Given the description of an element on the screen output the (x, y) to click on. 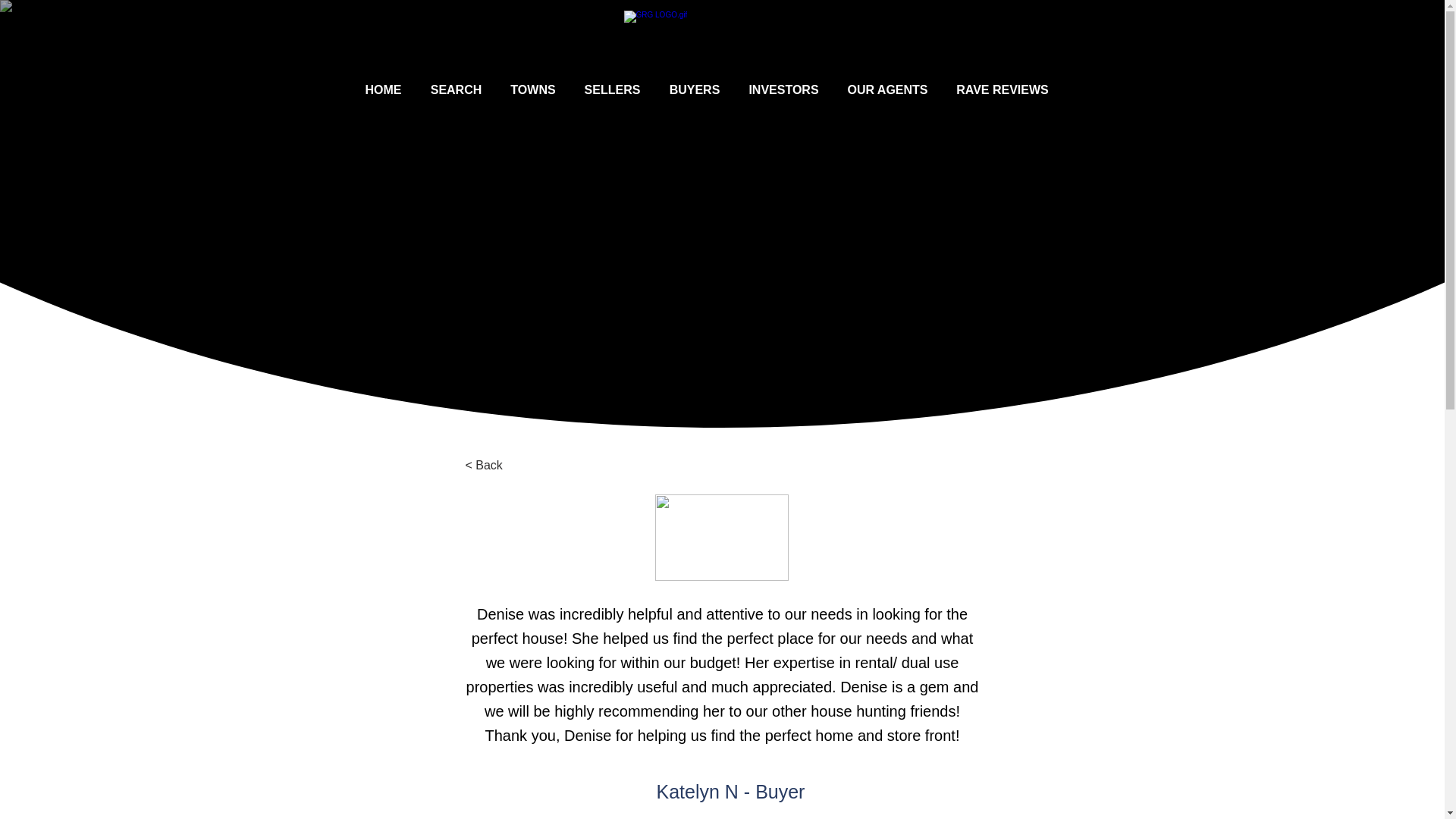
TOWNS (532, 89)
5 STAR REVIEWS denise.png (722, 537)
RAVE REVIEWS (1002, 89)
OUR AGENTS (887, 89)
SELLERS (612, 89)
HOME (382, 89)
BUYERS (695, 89)
